Given the description of an element on the screen output the (x, y) to click on. 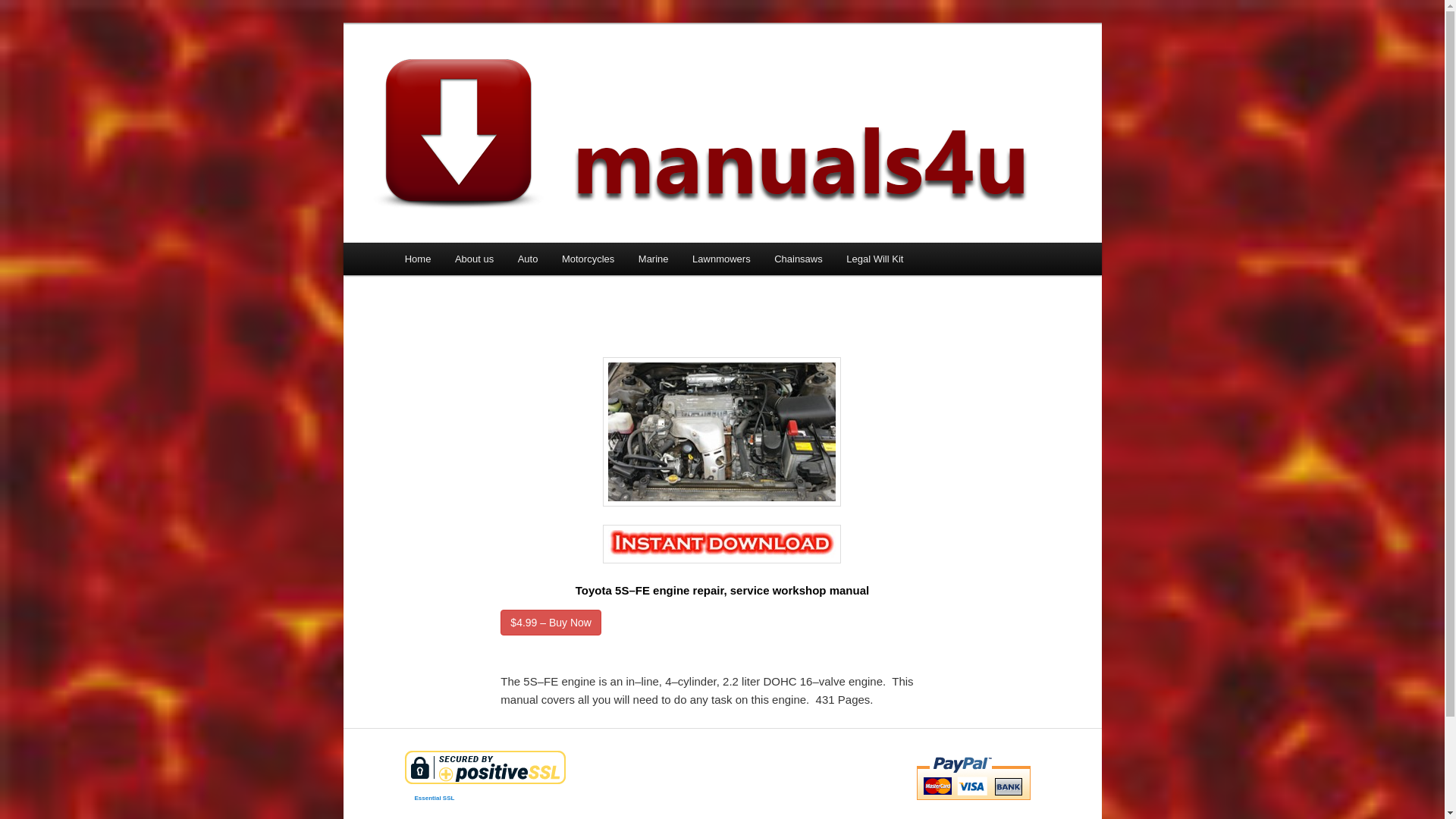
Auto Element type: text (527, 258)
Home Element type: text (417, 258)
manuals4u Element type: text (459, 78)
About us Element type: text (473, 258)
Chainsaws Element type: text (798, 258)
Skip to primary content Element type: text (414, 242)
5S-FE Element type: hover (721, 431)
Essential SSL Element type: text (554, 798)
Marine Element type: text (653, 258)
Motorcycles Element type: text (587, 258)
Legal Will Kit Element type: text (874, 258)
instant download banner Element type: hover (721, 543)
Lawnmowers Element type: text (721, 258)
